Given the description of an element on the screen output the (x, y) to click on. 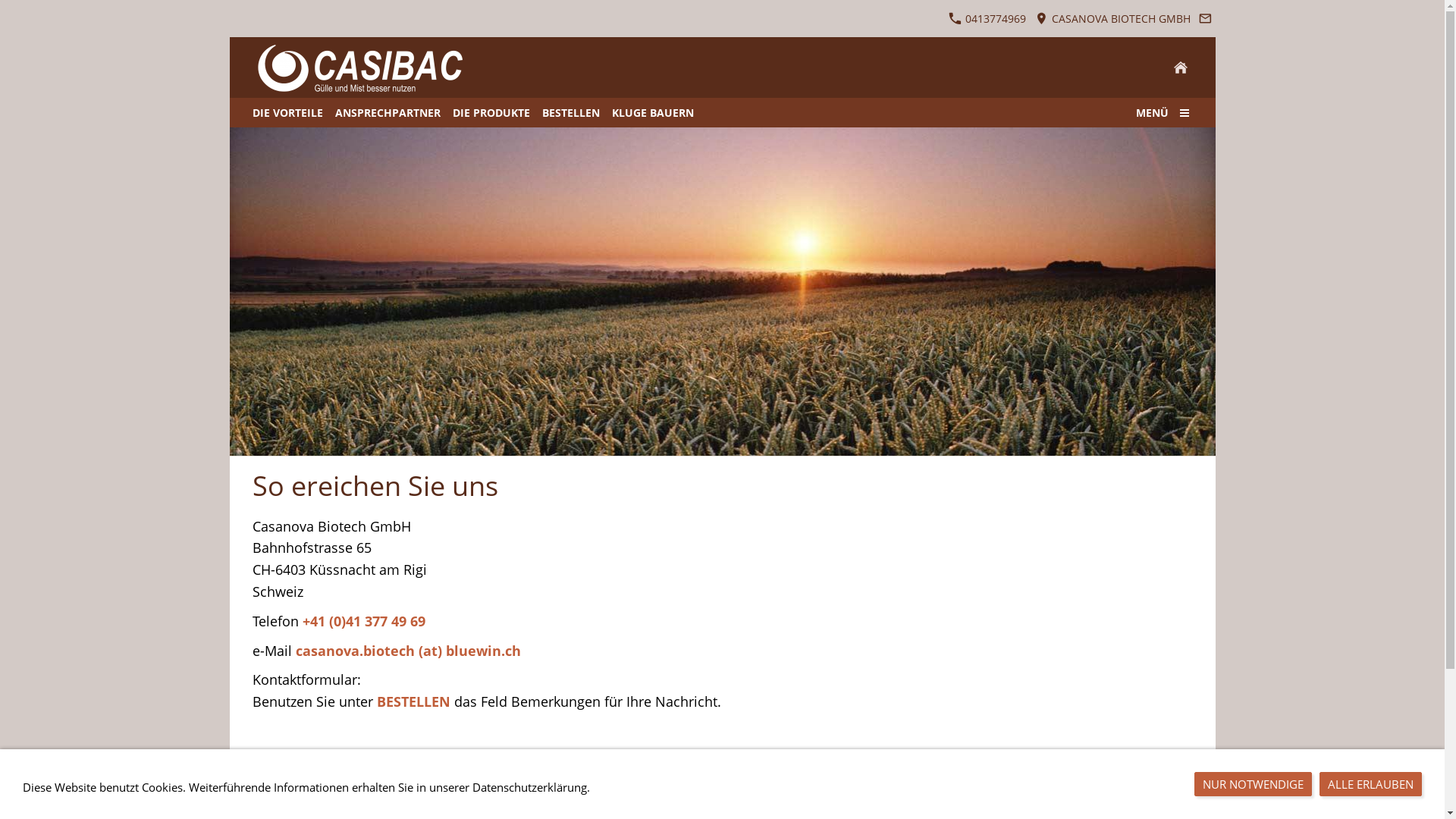
DIE PRODUKTE Element type: text (490, 112)
casanova.biotech (at) bluewin.ch Element type: text (407, 650)
Senden Sie uns eine E-Mail-Nachricht Element type: hover (1205, 18)
BESTELLEN Element type: text (570, 112)
KLUGE BAUERN Element type: text (652, 112)
+41 (0)41 377 49 69 Element type: text (362, 621)
DIE VORTEILE Element type: text (286, 112)
BESTELLEN Element type: text (412, 701)
ALLE ERLAUBEN Element type: text (1370, 783)
NUR NOTWENDIGE Element type: text (1252, 783)
ANSPRECHPARTNER Element type: text (387, 112)
 0413774969 Element type: text (986, 18)
